Given the description of an element on the screen output the (x, y) to click on. 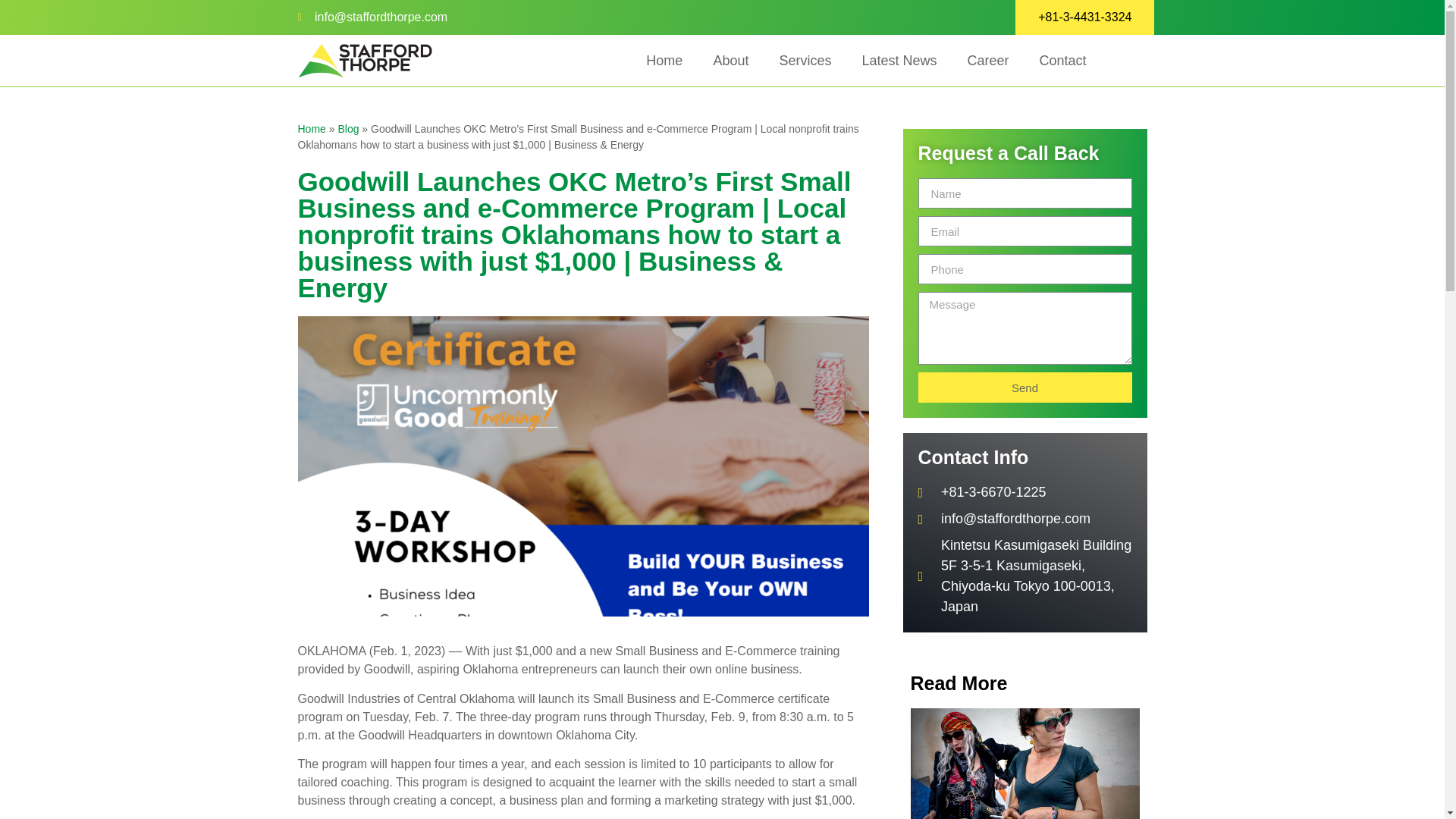
Home (663, 60)
About (729, 60)
Services (803, 60)
Latest News (898, 60)
Home (310, 128)
Career (988, 60)
Blog (347, 128)
Send (1024, 387)
Contact (1063, 60)
